Given the description of an element on the screen output the (x, y) to click on. 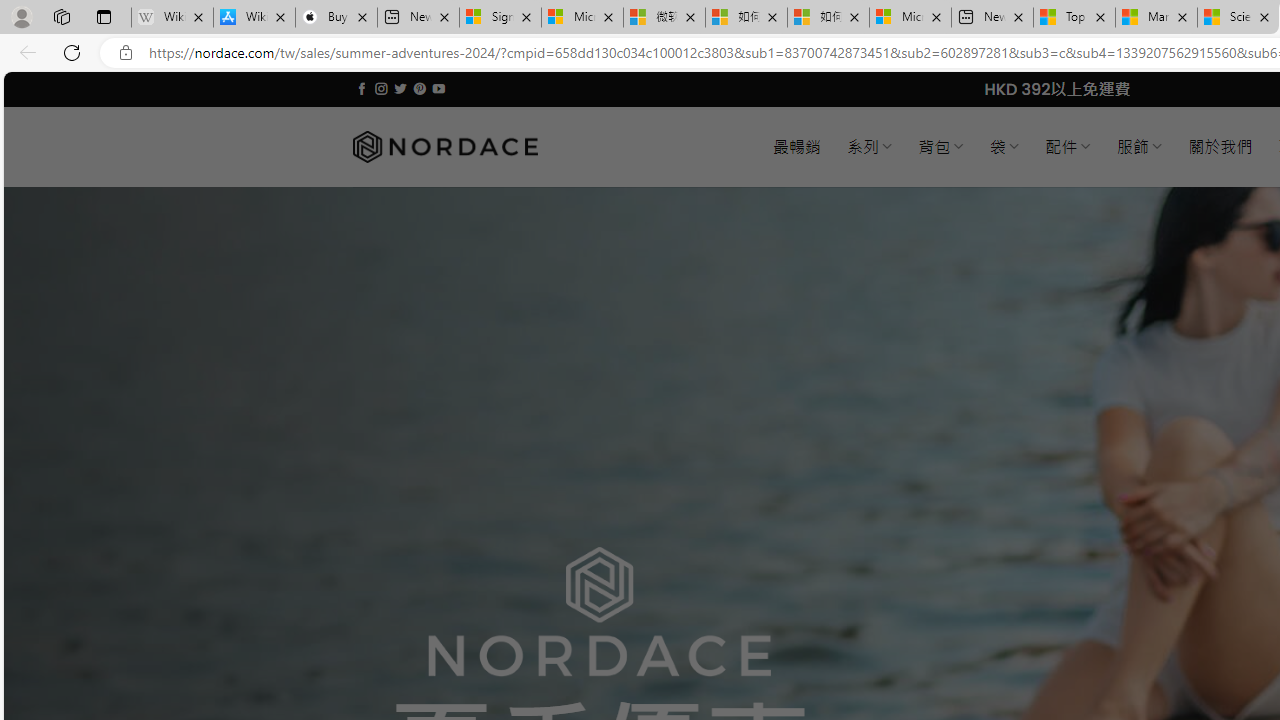
Follow on Pinterest (419, 88)
